Given the description of an element on the screen output the (x, y) to click on. 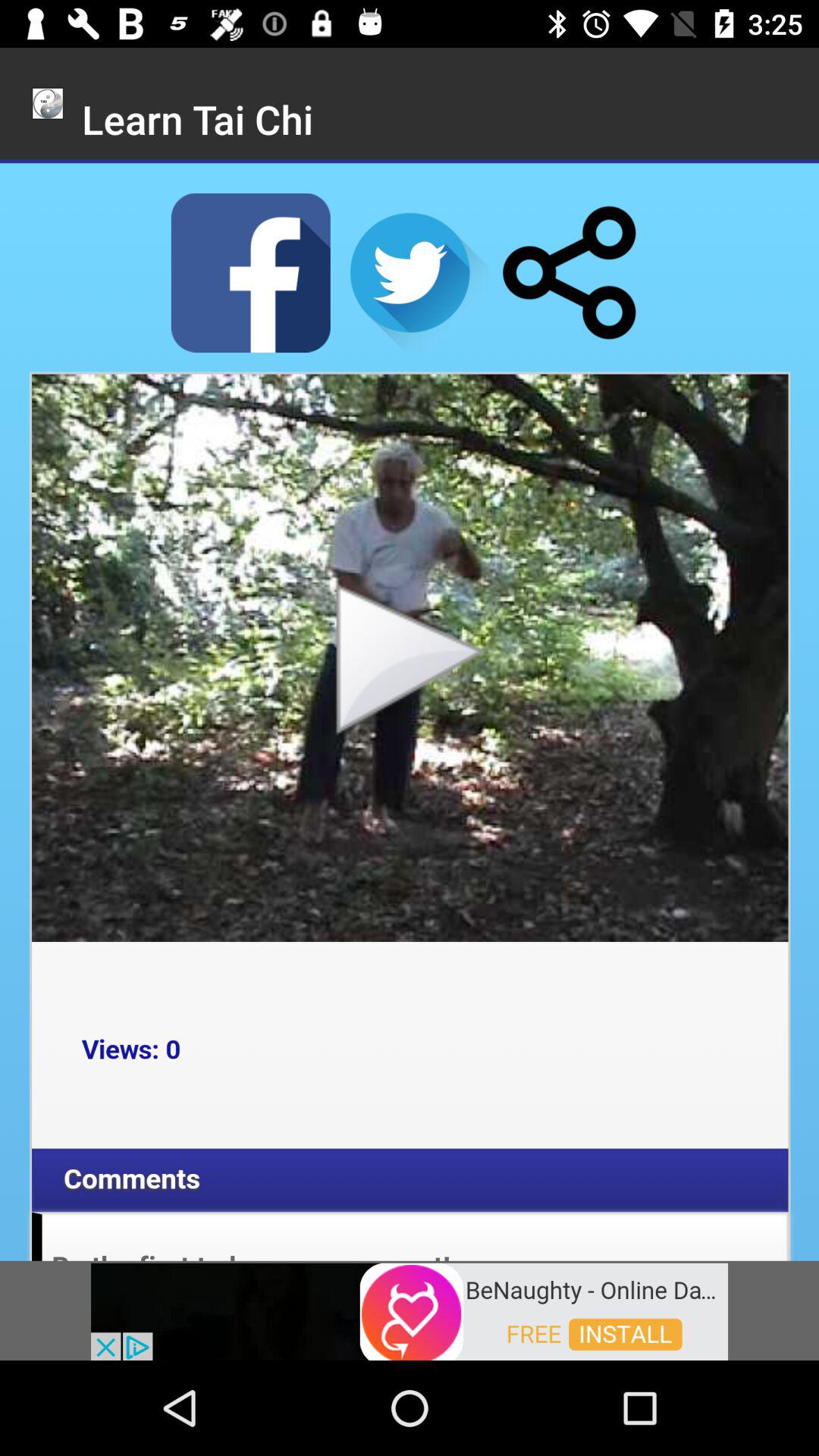
advertising (409, 1310)
